Given the description of an element on the screen output the (x, y) to click on. 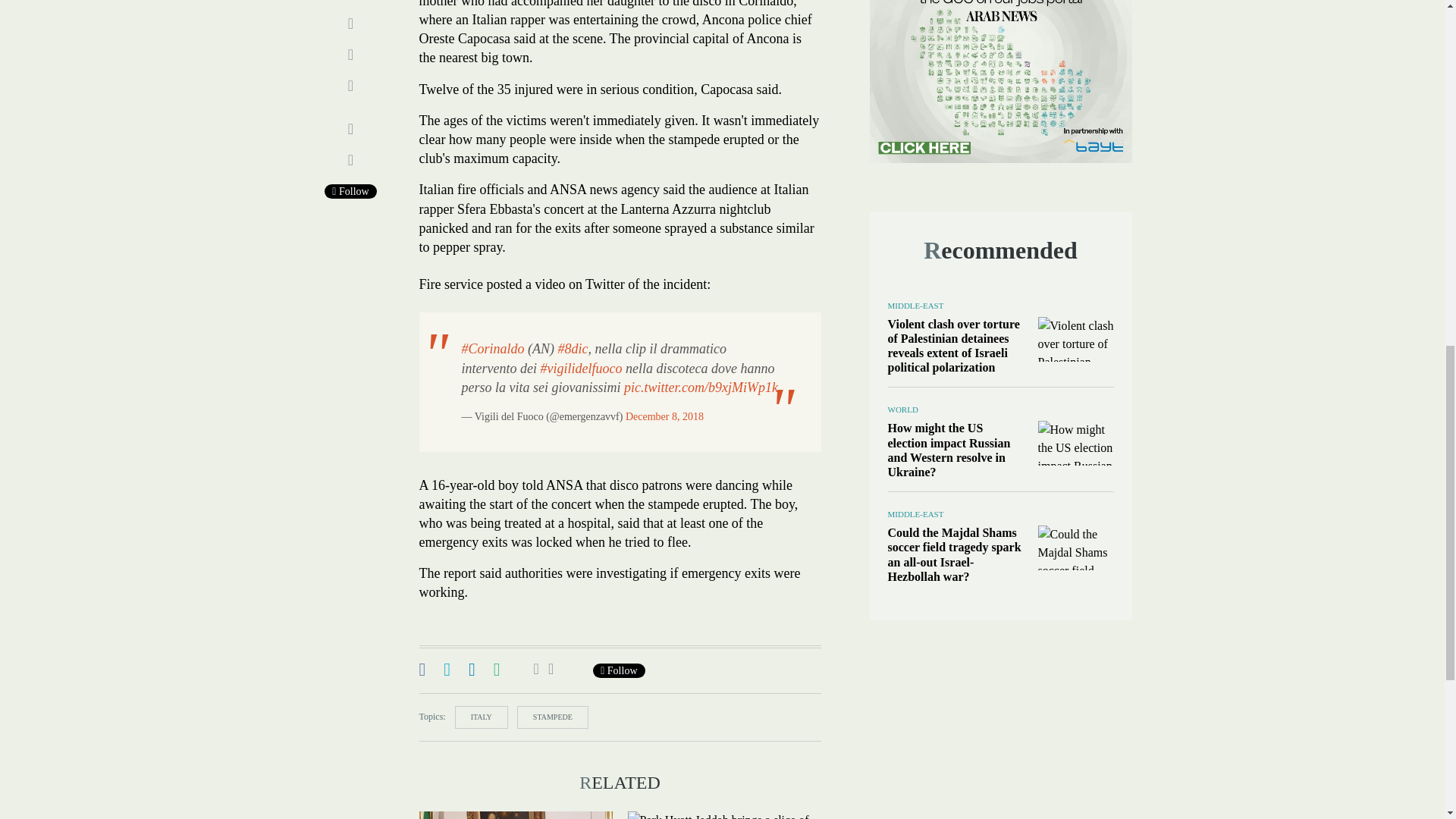
Italy summons Egypt ambassador over Regeni killing (515, 815)
